Given the description of an element on the screen output the (x, y) to click on. 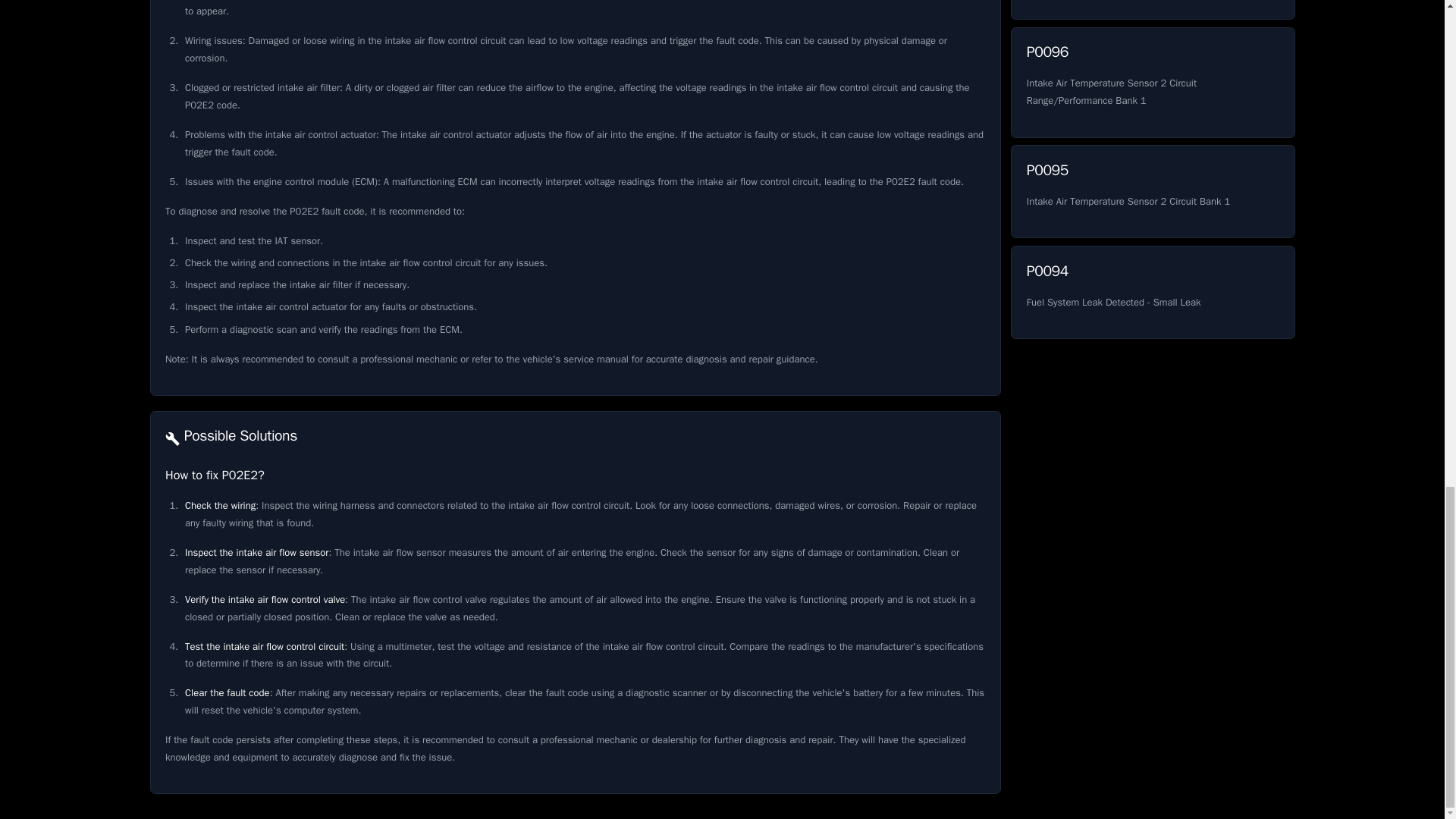
P0095 (1152, 292)
P0094 (1152, 191)
P0097 (1152, 9)
P0096 (1152, 191)
